Given the description of an element on the screen output the (x, y) to click on. 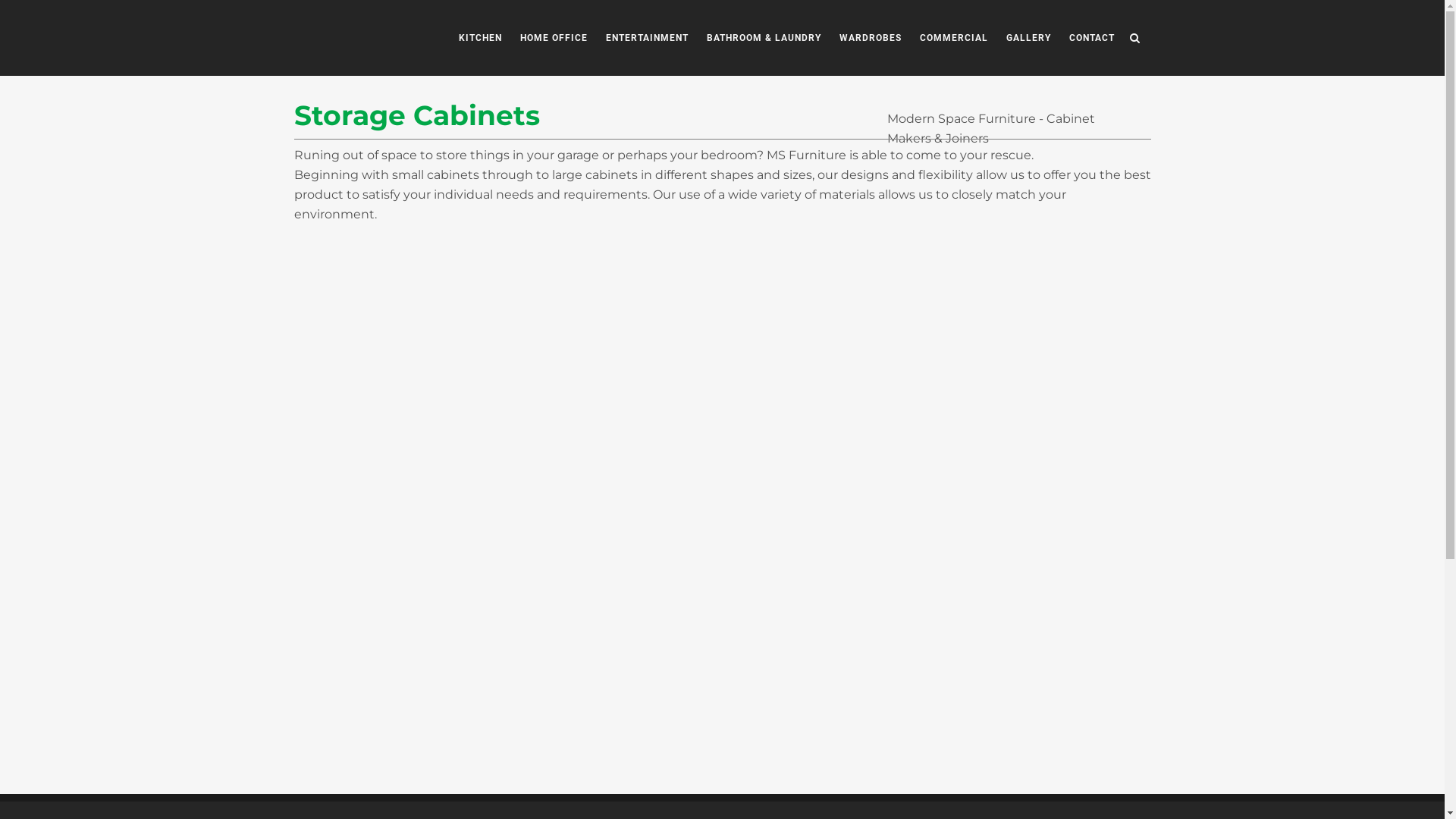
COMMERCIAL Element type: text (953, 37)
Modern Space Furniture - Cabinet Makers & Joiners Element type: text (991, 128)
HOME OFFICE Element type: text (553, 37)
ENTERTAINMENT Element type: text (646, 37)
BATHROOM & LAUNDRY Element type: text (763, 37)
GALLERY Element type: text (1027, 37)
CONTACT Element type: text (1091, 37)
WARDROBES Element type: text (869, 37)
KITCHEN Element type: text (479, 37)
